Given the description of an element on the screen output the (x, y) to click on. 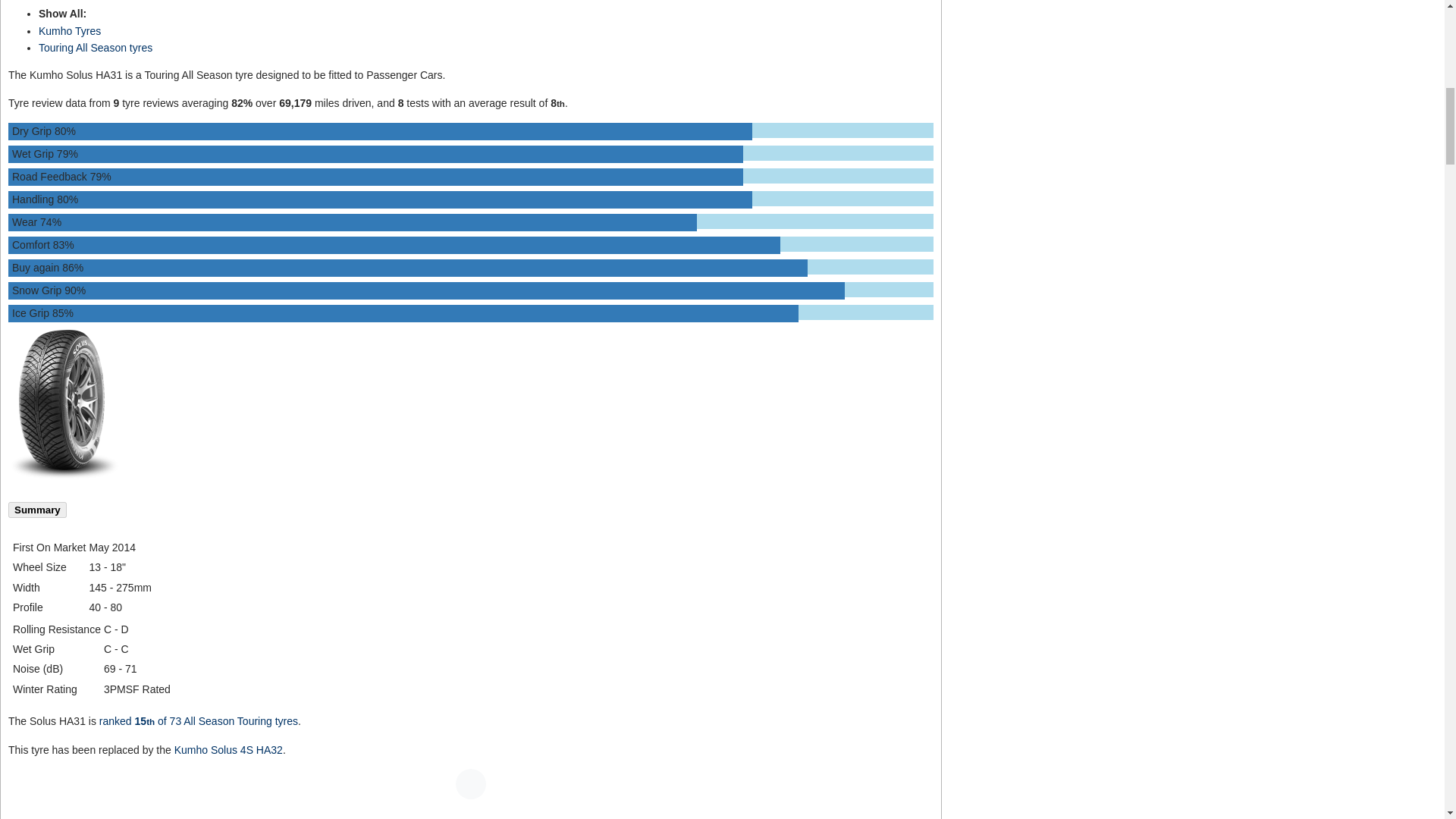
ranked 15th of 73 All Season Touring tyres (198, 720)
Touring All Season tyres (95, 47)
Kumho Solus 4S HA32 (228, 748)
Kumho Tyres (69, 30)
Summary (37, 509)
